Given the description of an element on the screen output the (x, y) to click on. 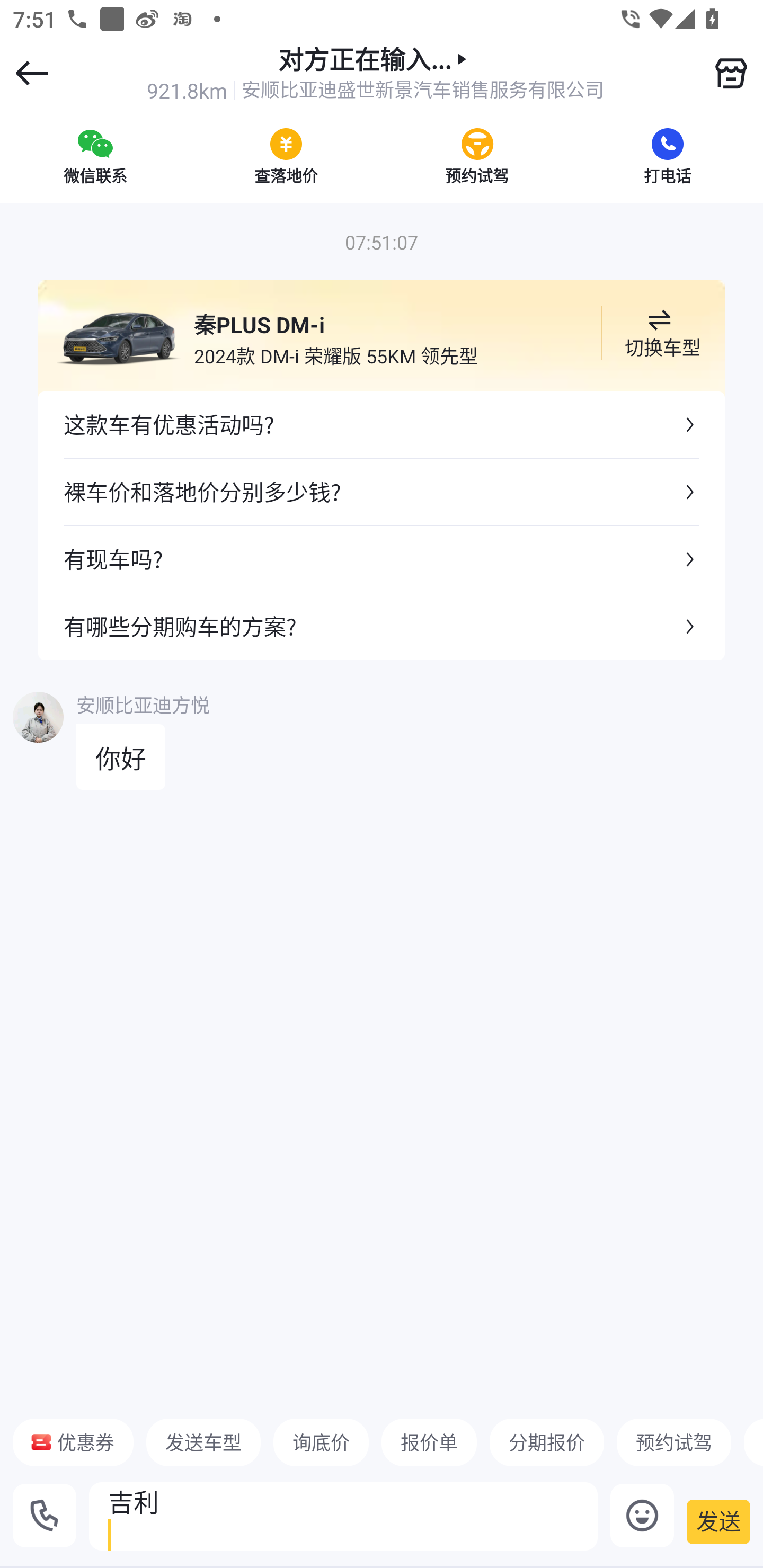
对方正在输入... 921.8km 安顺比亚迪盛世新景汽车销售服务有限公司 (374, 73)
 (730, 73)
微信联系 (95, 155)
查落地价 (285, 155)
预约试驾 (476, 155)
打电话 (667, 155)
切换车型 (659, 332)
这款车有优惠活动吗? (381, 424)
裸车价和落地价分别多少钱? (381, 492)
有现车吗? (381, 558)
有哪些分期购车的方案? (381, 626)
你好 (120, 757)
优惠券 (72, 1442)
发送车型 (203, 1442)
询底价 (320, 1442)
报价单 (428, 1442)
分期报价 (546, 1442)
预约试驾 (673, 1442)
吉利
 (343, 1515)
发送 (718, 1521)
